Given the description of an element on the screen output the (x, y) to click on. 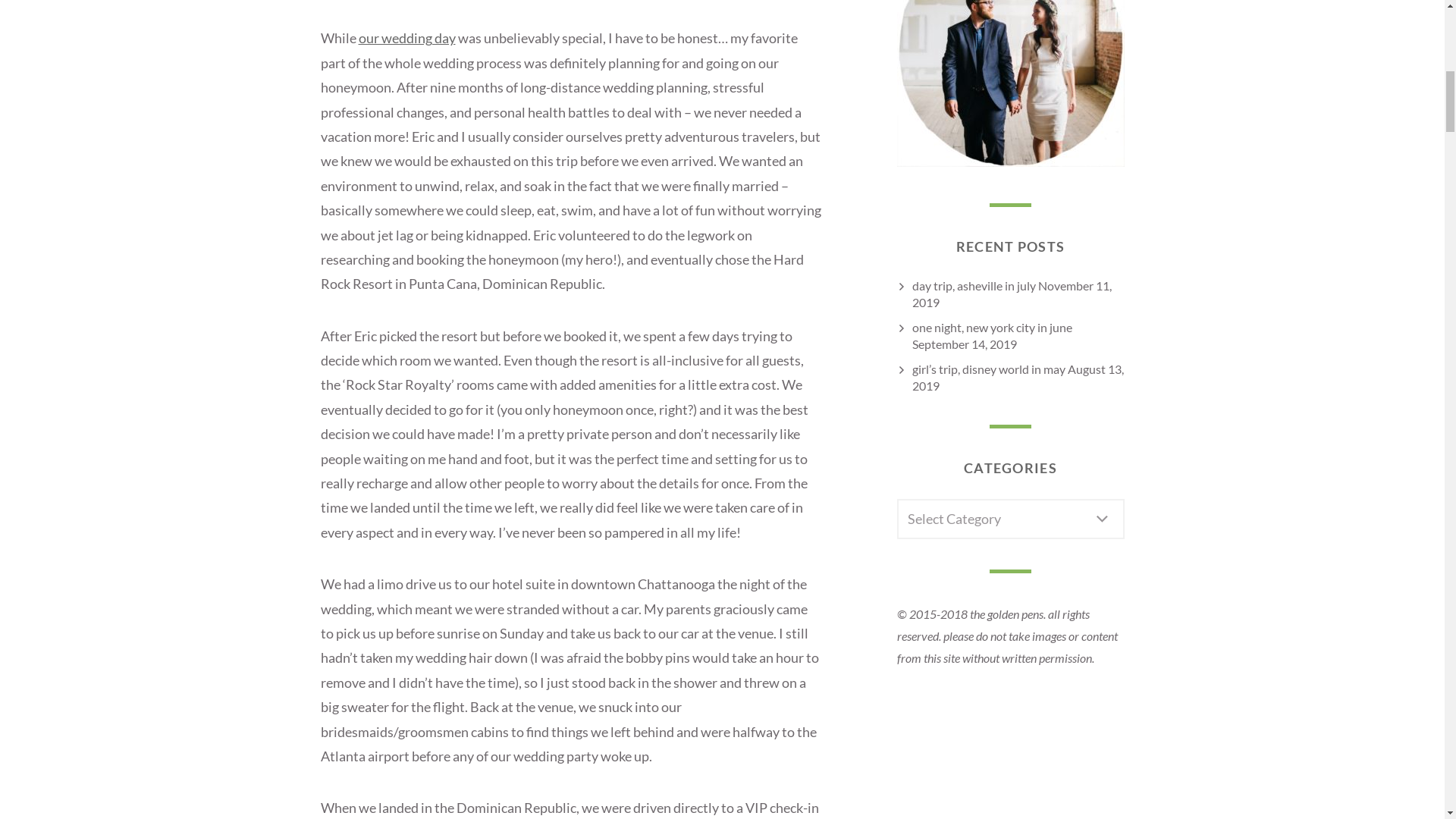
our wedding day (406, 37)
one night, new york city in june (991, 327)
day trip, asheville in july (973, 285)
